Given the description of an element on the screen output the (x, y) to click on. 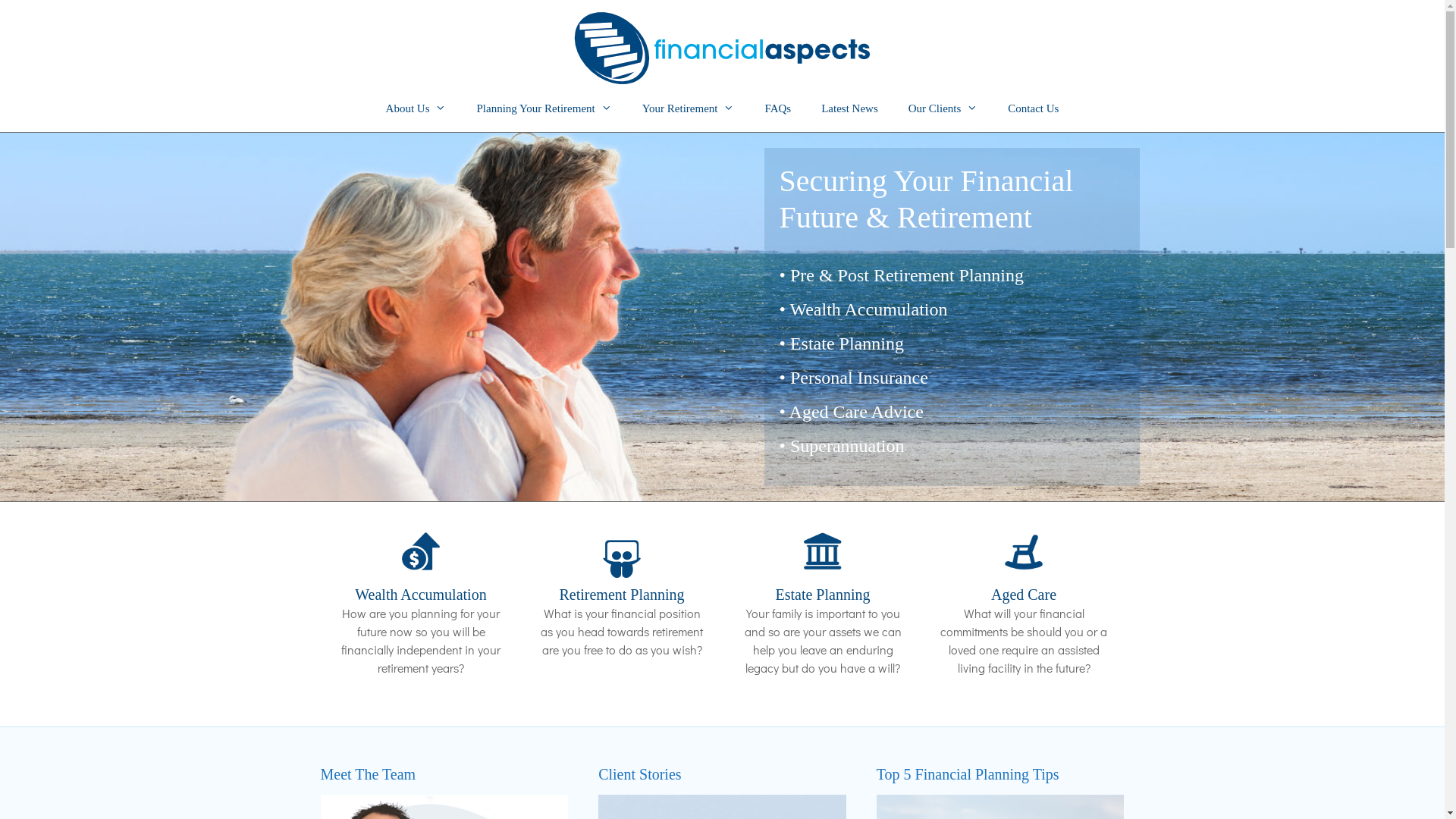
Planning Your Retirement Element type: text (543, 108)
Your Retirement Element type: text (688, 108)
Wealth Accumulation Element type: text (420, 594)
Our Clients Element type: text (943, 108)
Retirement Planning Element type: text (621, 594)
Contact Us Element type: text (1032, 108)
Financial Aspects Element type: hover (721, 45)
About Us Element type: text (415, 108)
Aged Care Element type: text (1023, 594)
FAQs Element type: text (777, 108)
Latest News Element type: text (849, 108)
Estate Planning Element type: text (822, 594)
Top 5 Financial Planning Tips Element type: text (967, 773)
Client Stories Element type: text (639, 773)
Financial Aspects Element type: hover (721, 43)
Meet The Team Element type: text (367, 773)
